Given the description of an element on the screen output the (x, y) to click on. 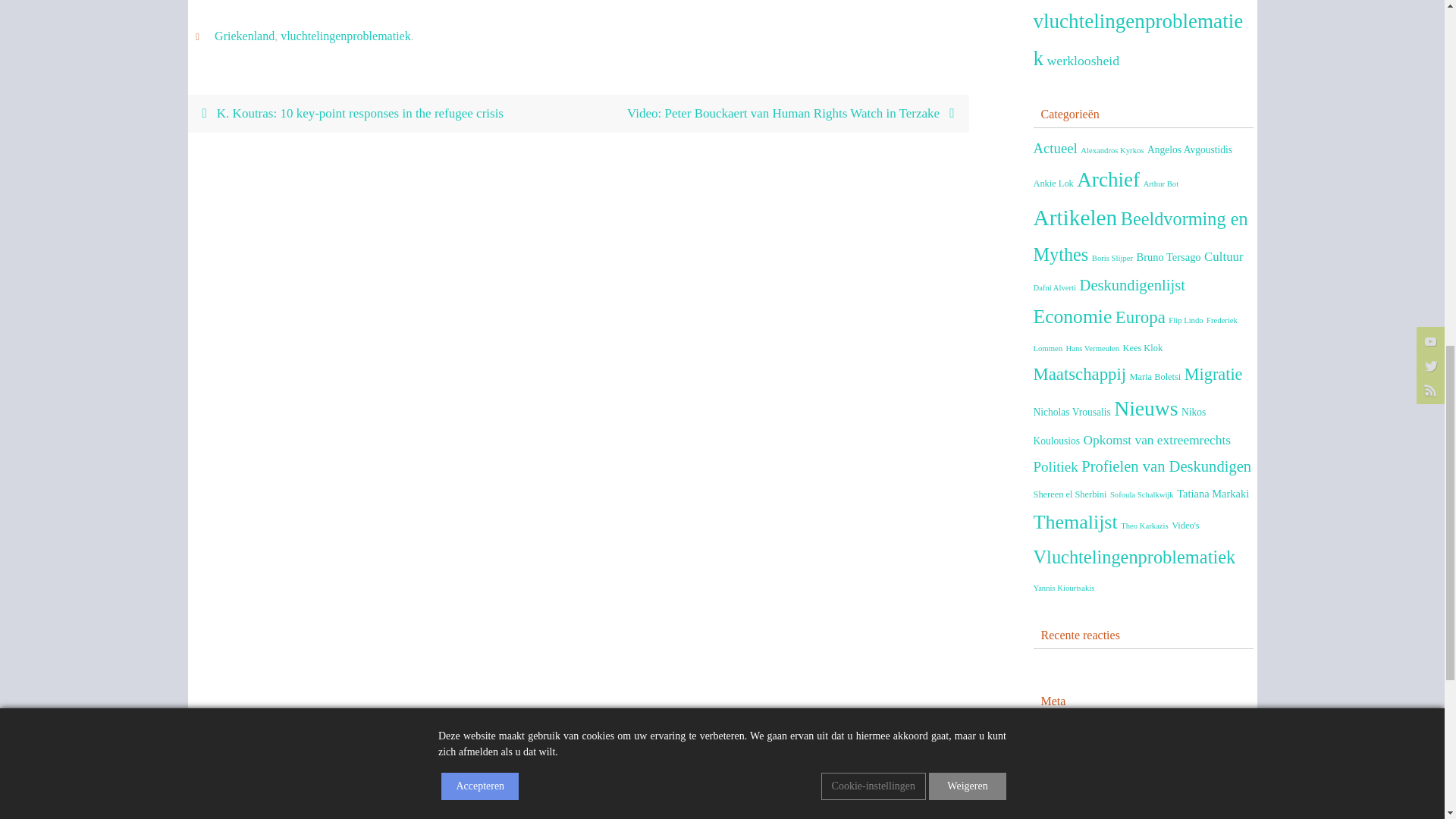
Getagged (199, 35)
